Given the description of an element on the screen output the (x, y) to click on. 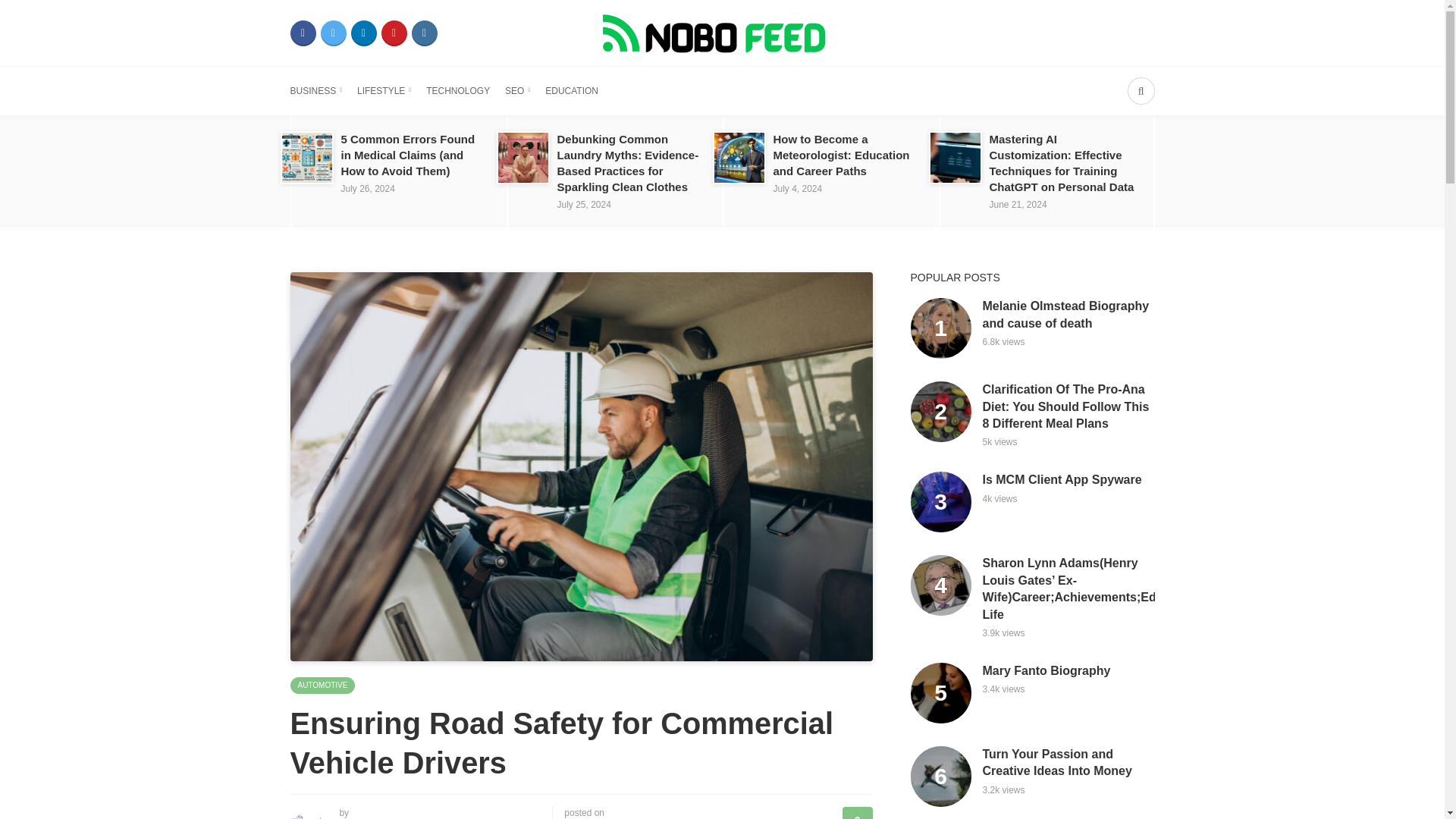
Pinterest (393, 32)
July 4, 2024 (797, 188)
Nobofeed (721, 32)
twitter (333, 32)
TECHNOLOGY (457, 90)
facebook (302, 32)
EDUCATION (571, 90)
View all posts in Automotive (322, 685)
BUSINESS (315, 90)
July 25, 2024 (583, 204)
